Given the description of an element on the screen output the (x, y) to click on. 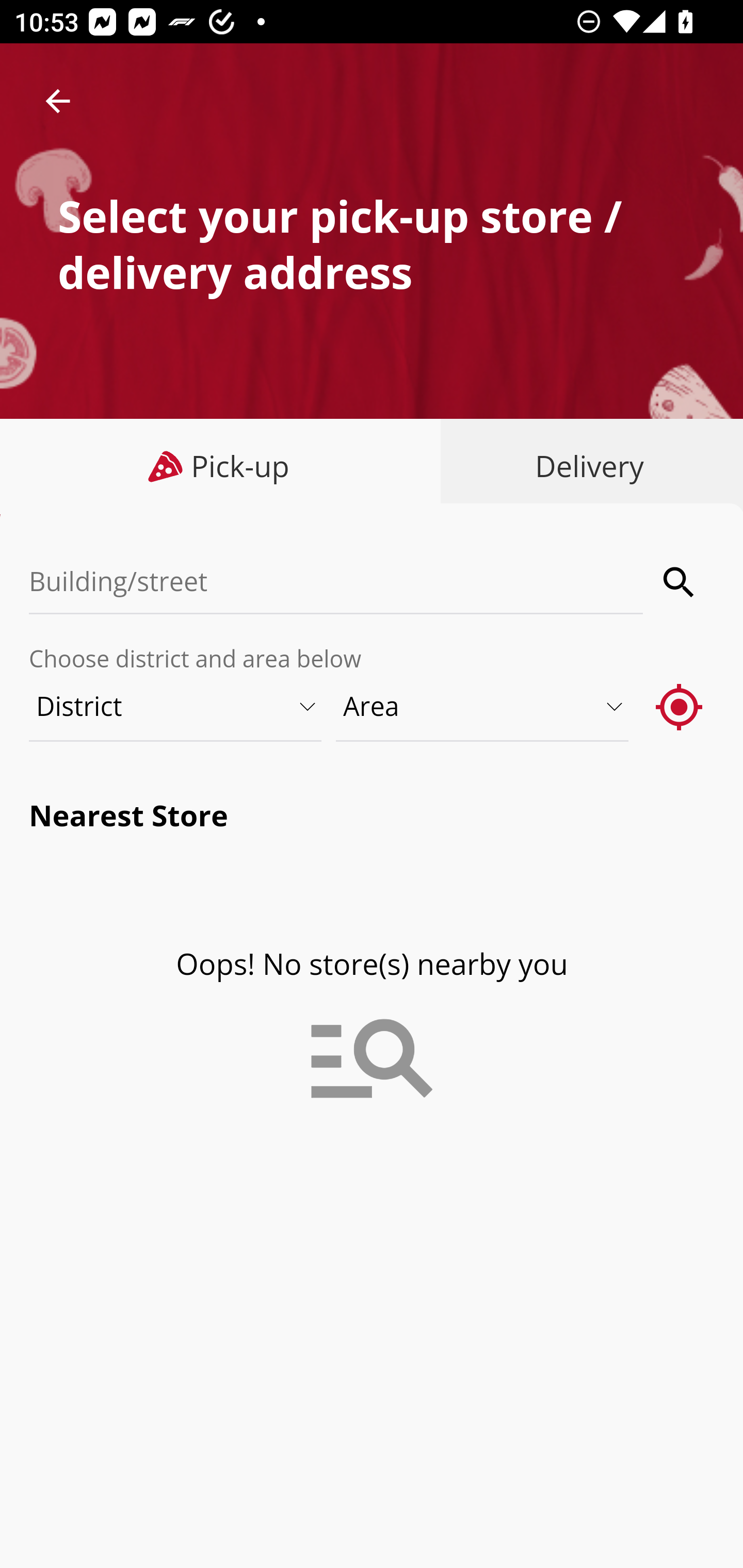
arrow_back (58, 100)
Pick-up (221, 466)
Delivery (585, 466)
search (679, 582)
gps_fixed (679, 706)
District (175, 706)
Area (482, 706)
